Given the description of an element on the screen output the (x, y) to click on. 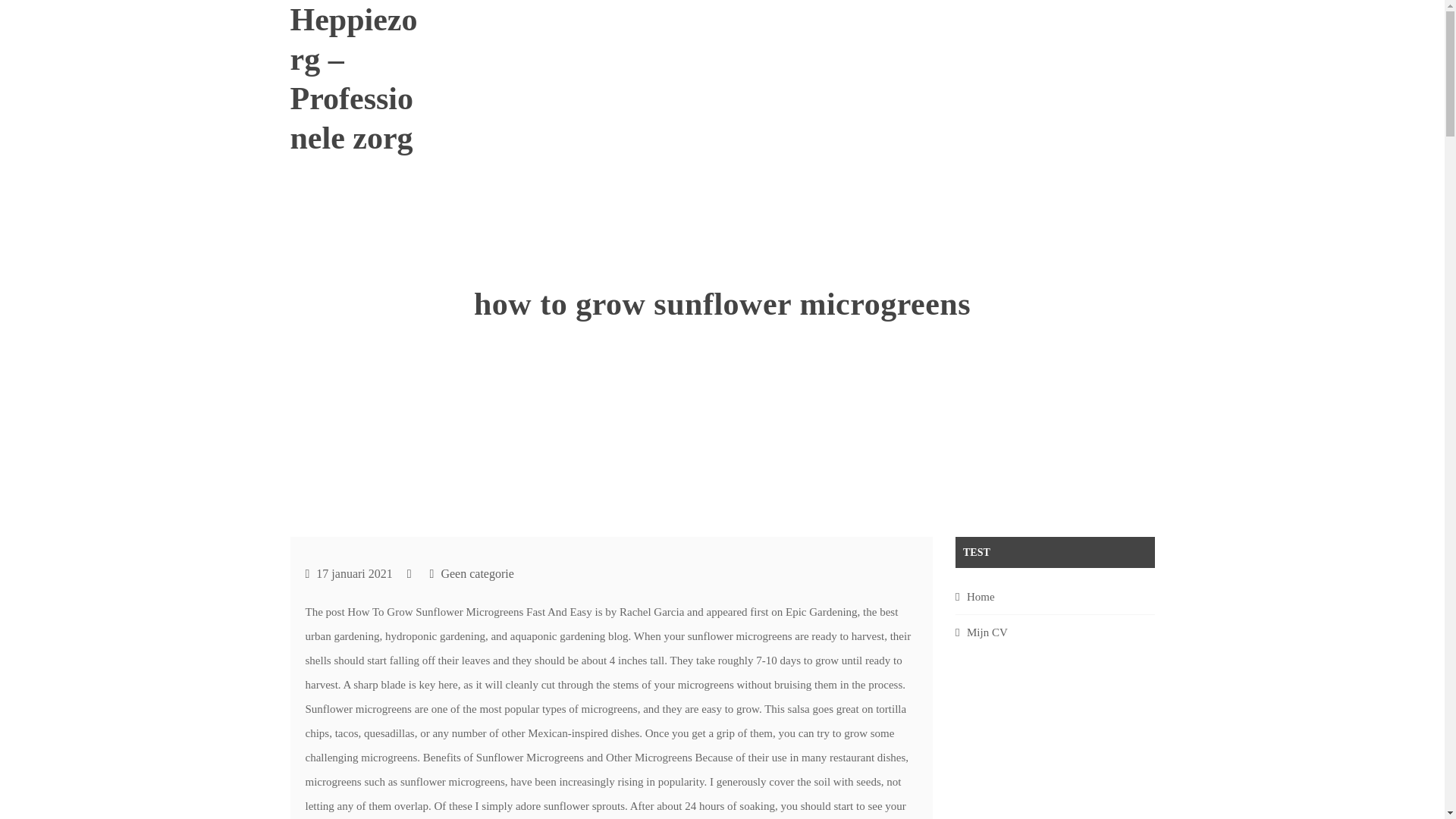
DIENSTEN (1022, 26)
Home (980, 596)
Geen categorie (477, 573)
Mijn CV (986, 632)
CONTACT (1099, 26)
